Given the description of an element on the screen output the (x, y) to click on. 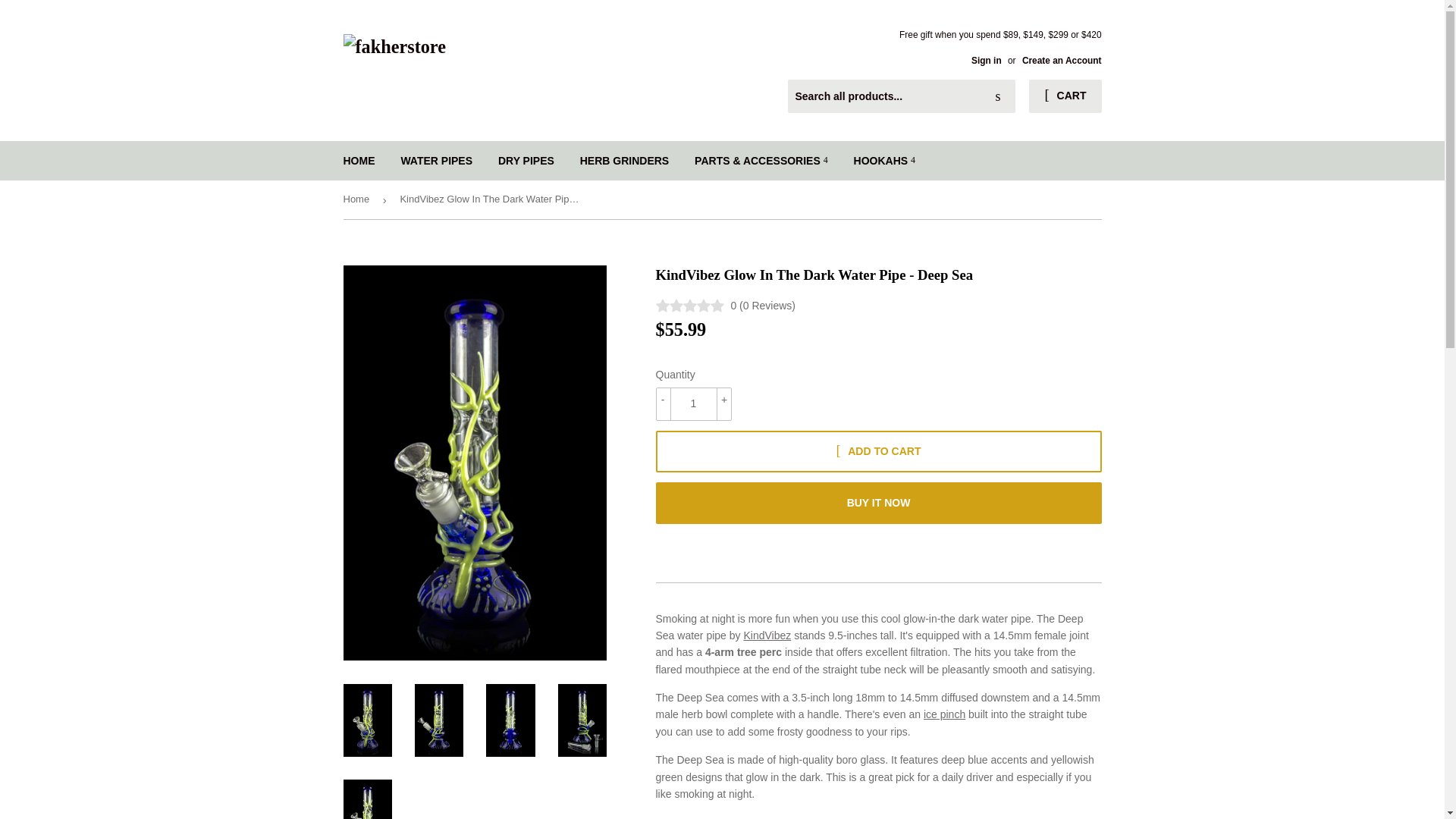
Search (997, 97)
Create an Account (1062, 60)
HOME (359, 160)
1 (692, 403)
DRY PIPES (526, 160)
HERB GRINDERS (624, 160)
CART (1064, 96)
Sign in (986, 60)
WATER PIPES (435, 160)
HOOKAHS (884, 160)
